Given the description of an element on the screen output the (x, y) to click on. 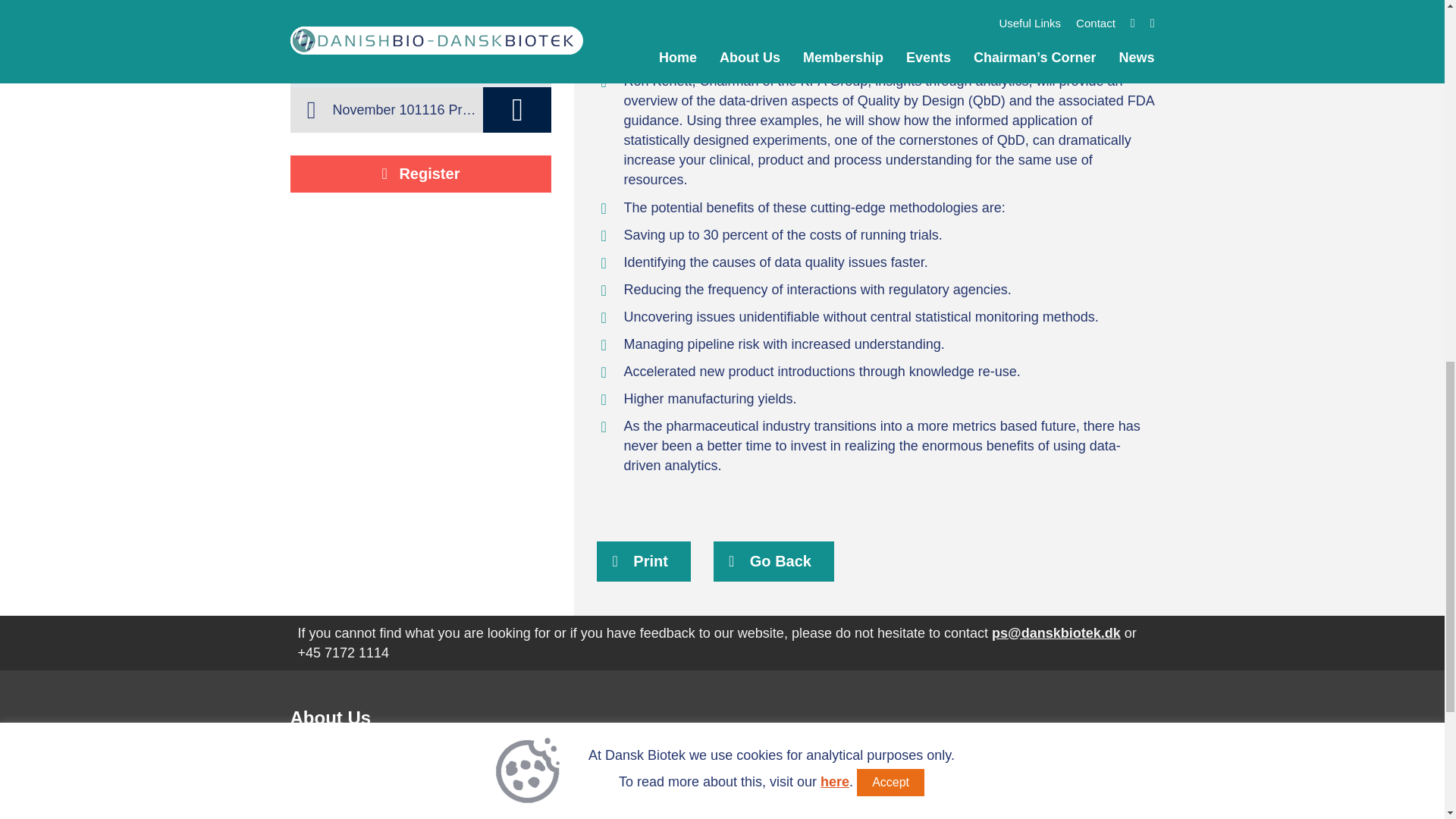
Go Back (773, 561)
Register (420, 173)
Print (643, 561)
